Given the description of an element on the screen output the (x, y) to click on. 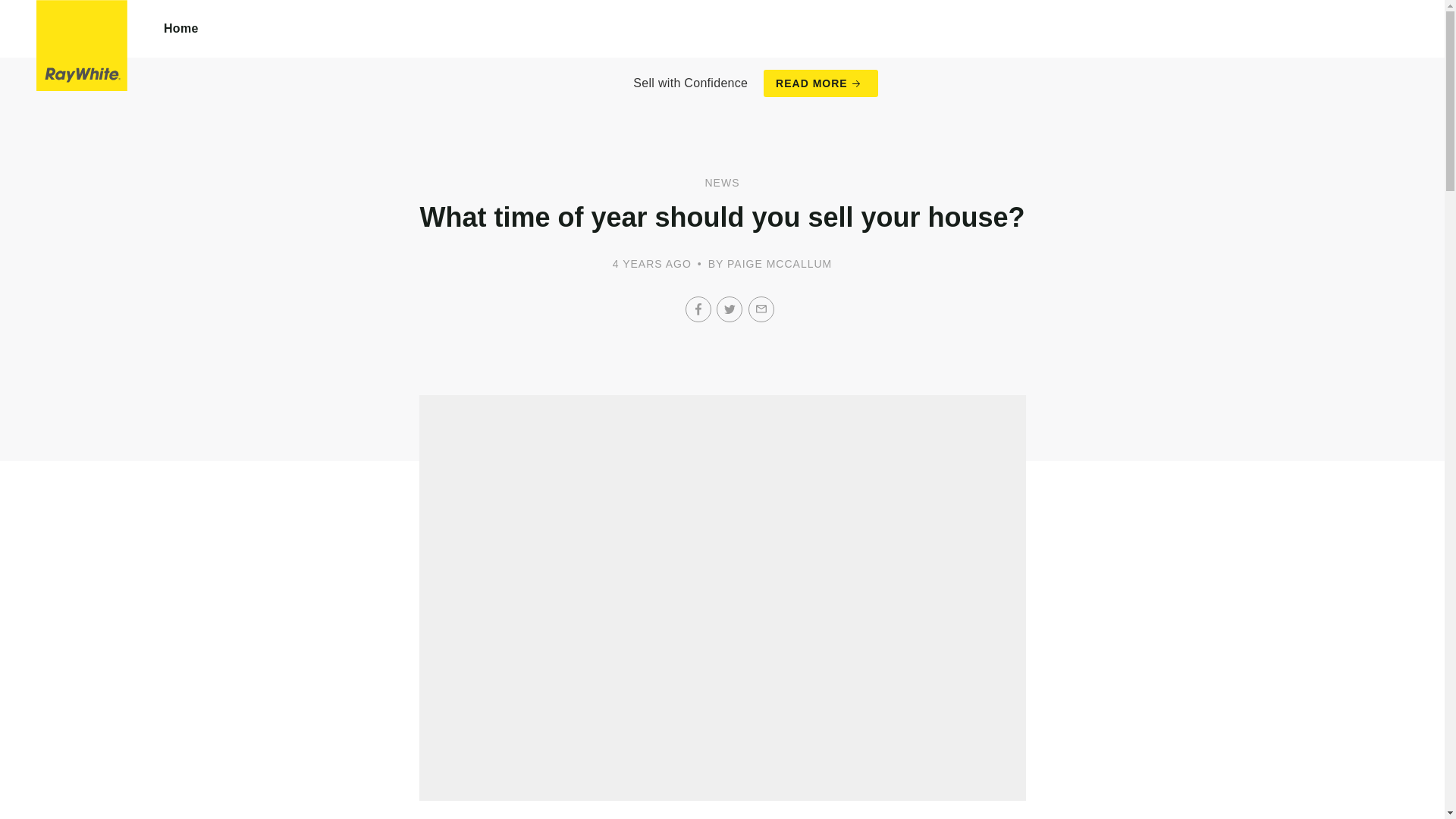
Home (180, 28)
Email (761, 309)
Facebook (698, 309)
Ray White Gerringong (82, 45)
READ MORE (819, 83)
Twitter (729, 309)
